Given the description of an element on the screen output the (x, y) to click on. 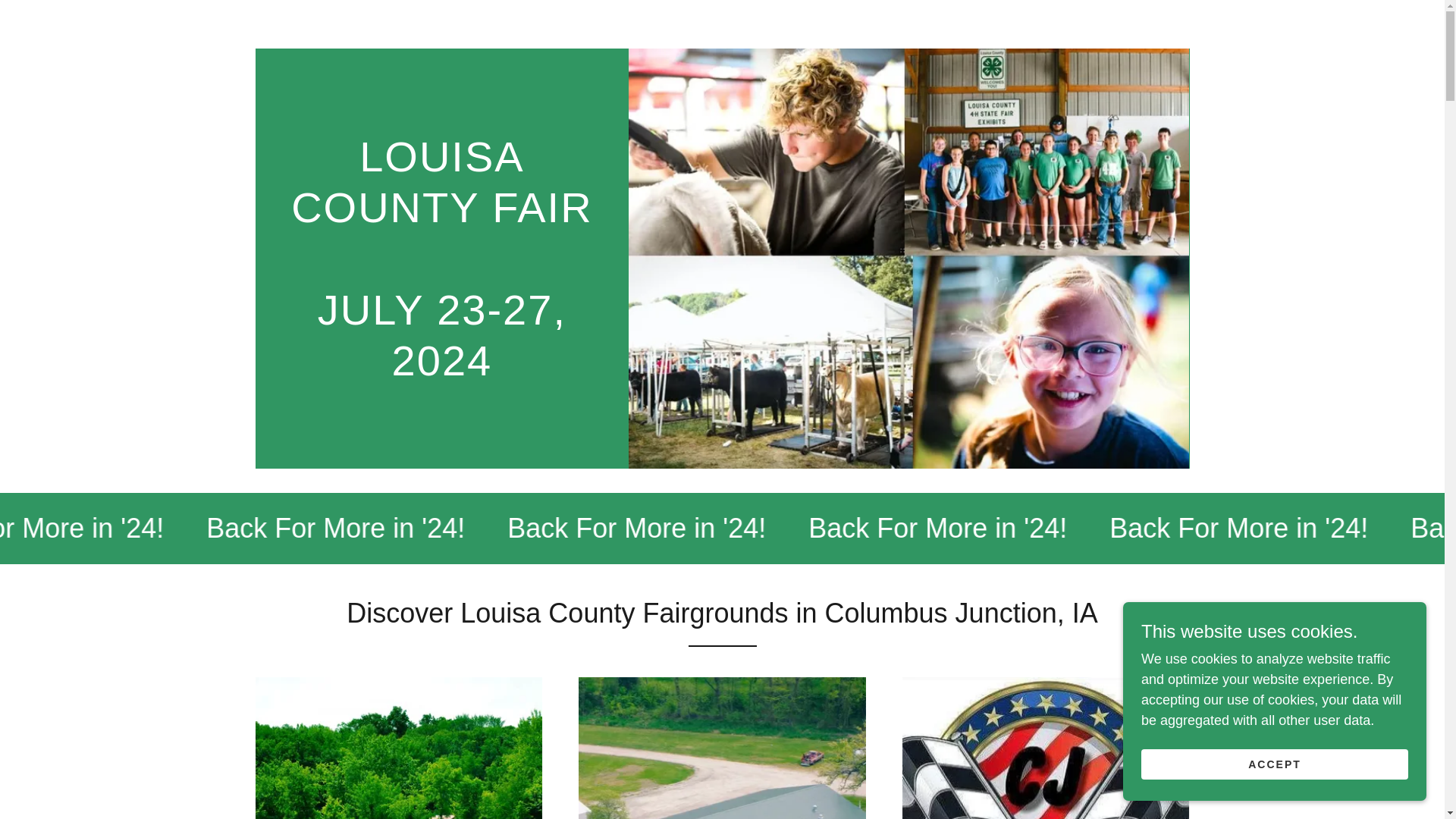
ACCEPT (1274, 764)
